Given the description of an element on the screen output the (x, y) to click on. 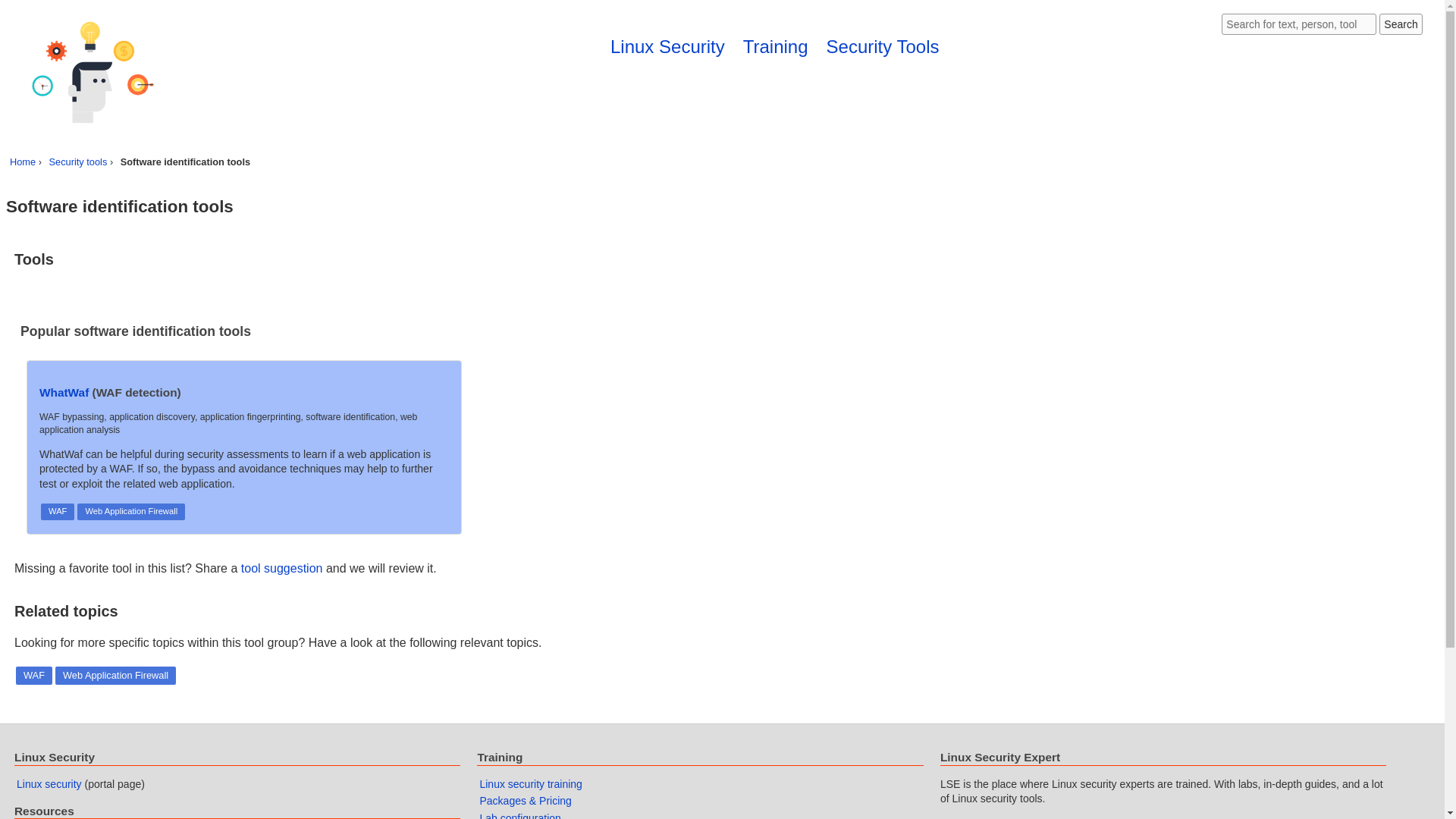
Security Tools (883, 46)
tool suggestion (282, 567)
Web Application Firewall (130, 510)
Lab configuration (519, 815)
Linux Security (667, 46)
Security tools (78, 161)
WAF (34, 674)
Search (1400, 24)
WhatWaf (63, 391)
Training (775, 46)
Home (22, 161)
Web Application Firewall (115, 674)
Linux security training (529, 784)
Linux security (48, 784)
WAF (57, 510)
